Given the description of an element on the screen output the (x, y) to click on. 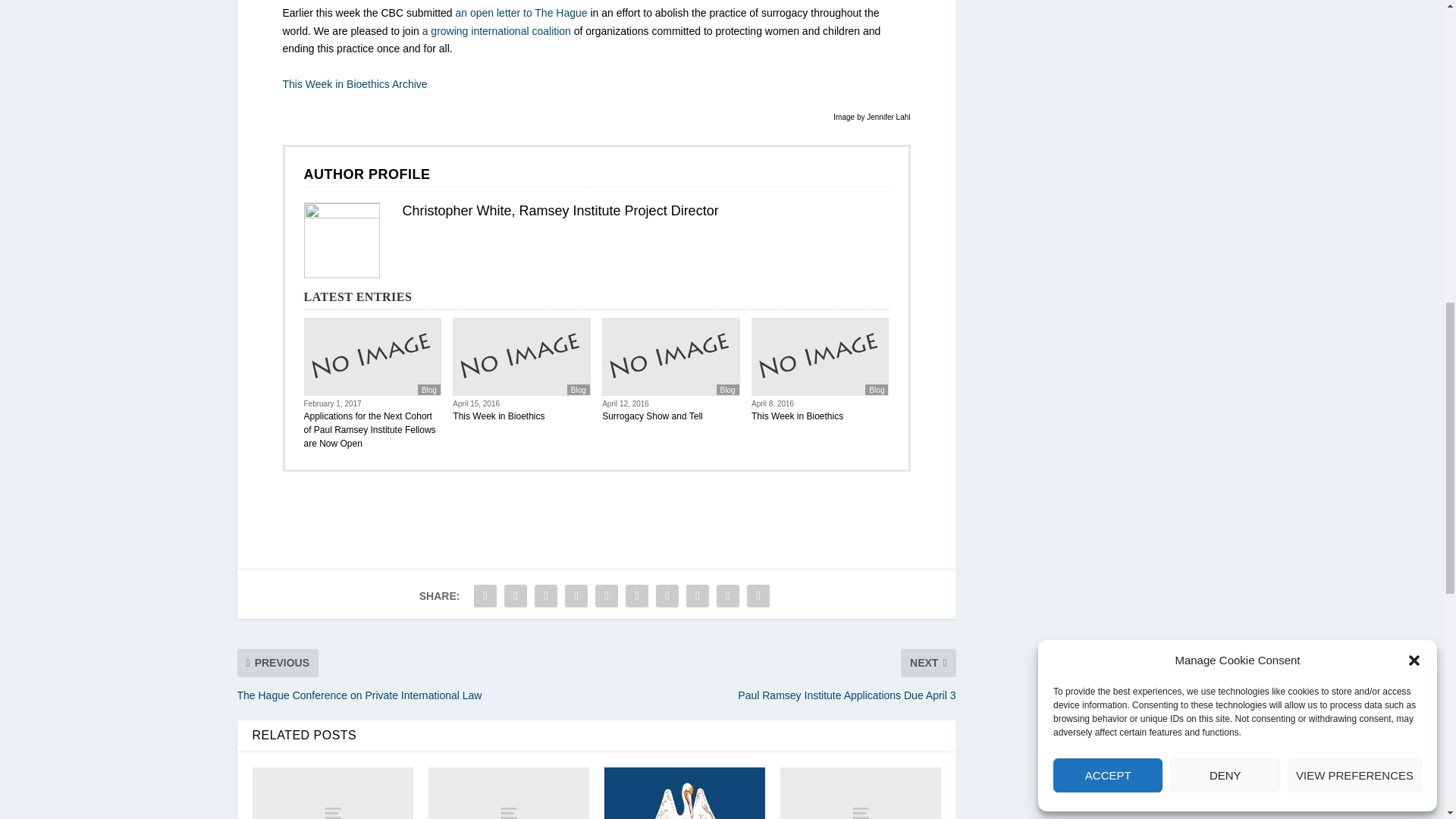
Share "This Week in Bioethics" via Tumblr (575, 595)
Share "This Week in Bioethics" via Pinterest (606, 595)
Share "This Week in Bioethics" via LinkedIn (636, 595)
Share "This Week in Bioethics" via Print (757, 595)
Share "This Week in Bioethics" via Email (727, 595)
Share "This Week in Bioethics" via Facebook (485, 595)
Share "This Week in Bioethics" via Buffer (667, 595)
Share "This Week in Bioethics" via Stumbleupon (697, 595)
Share "This Week in Bioethics" via Twitter (515, 595)
